Given the description of an element on the screen output the (x, y) to click on. 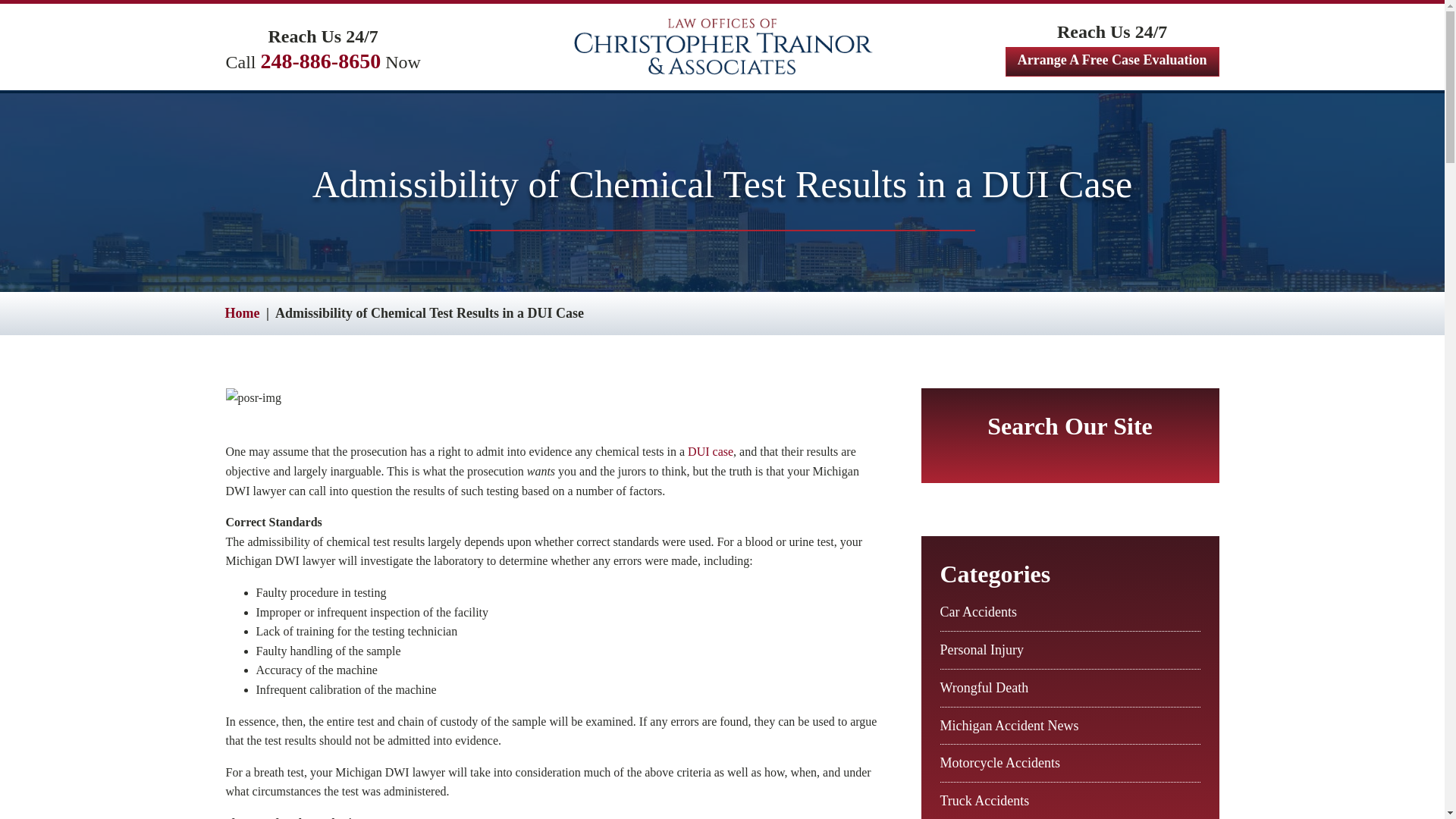
Arrange A Free Case Evaluation (1113, 61)
Breadcrumb link to Home (241, 313)
Truck Accidents (984, 800)
DUI case (710, 451)
248-886-8650 (320, 60)
Motorcycle Accidents (999, 762)
Home (241, 313)
Michigan Accident News (1009, 725)
Wrongful Death (984, 687)
Personal Injury (981, 649)
Car Accidents (978, 611)
